Given the description of an element on the screen output the (x, y) to click on. 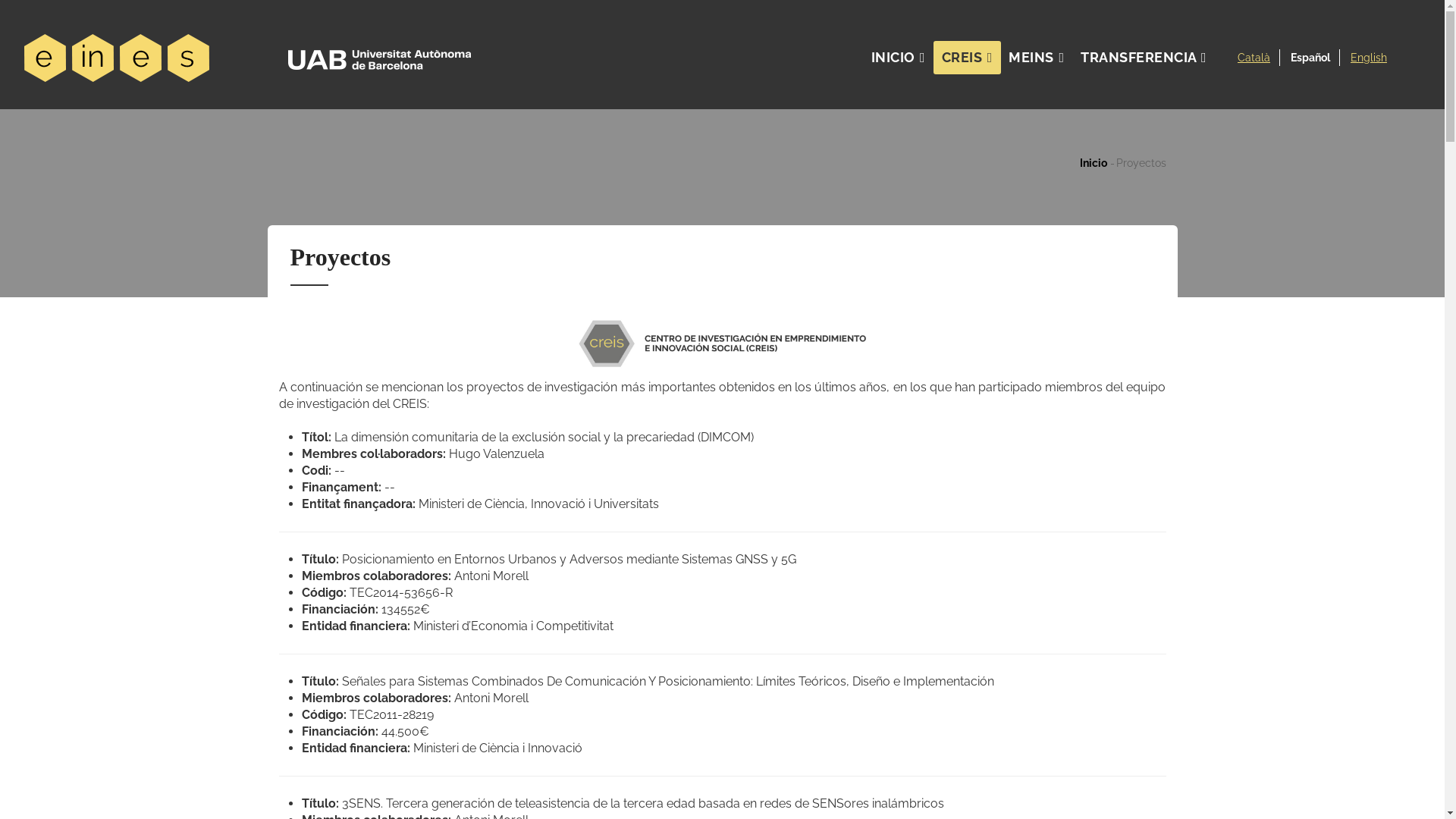
Pasar al contenido principal Element type: text (0, 0)
INICIO Element type: text (897, 57)
English Element type: text (1368, 57)
CREIS Element type: text (967, 57)
MEINS Element type: text (1037, 57)
Inicio Element type: hover (249, 54)
TRANSFERENCIA Element type: text (1143, 57)
Inicio Element type: text (1093, 162)
